Given the description of an element on the screen output the (x, y) to click on. 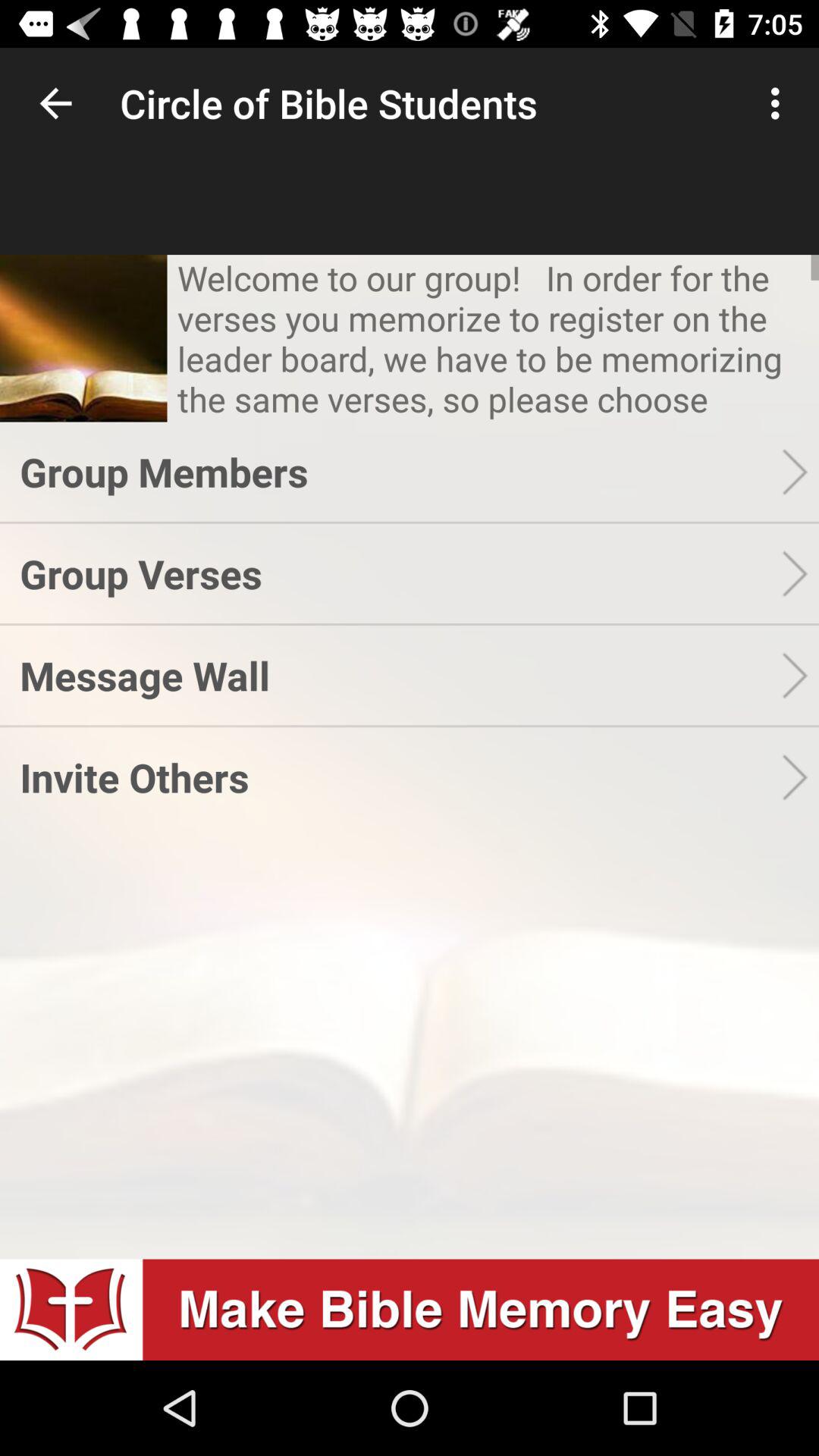
tap app above group verses (399, 471)
